Given the description of an element on the screen output the (x, y) to click on. 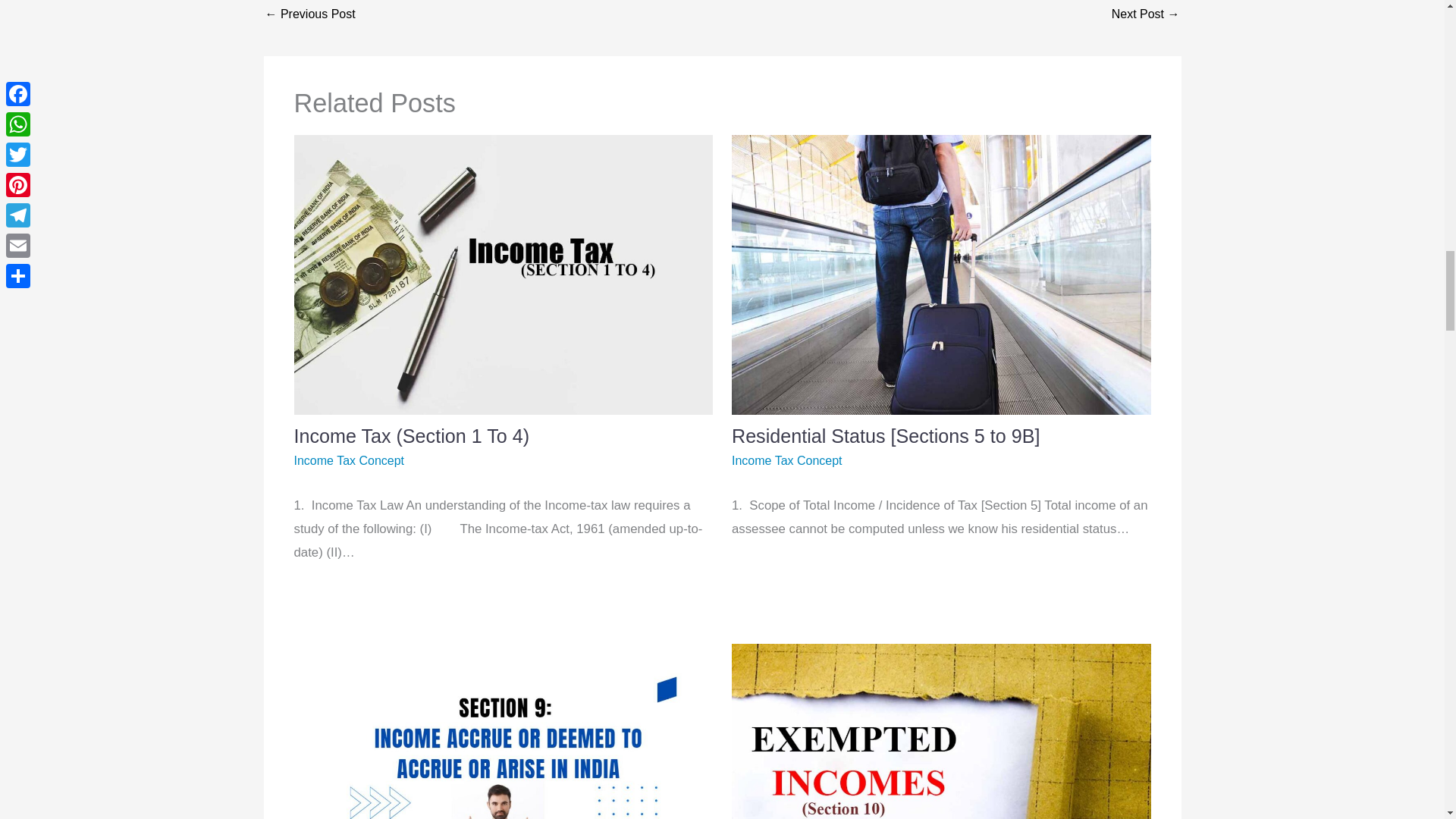
Income Tax Concept (787, 460)
Income Tax Concept (349, 460)
